Given the description of an element on the screen output the (x, y) to click on. 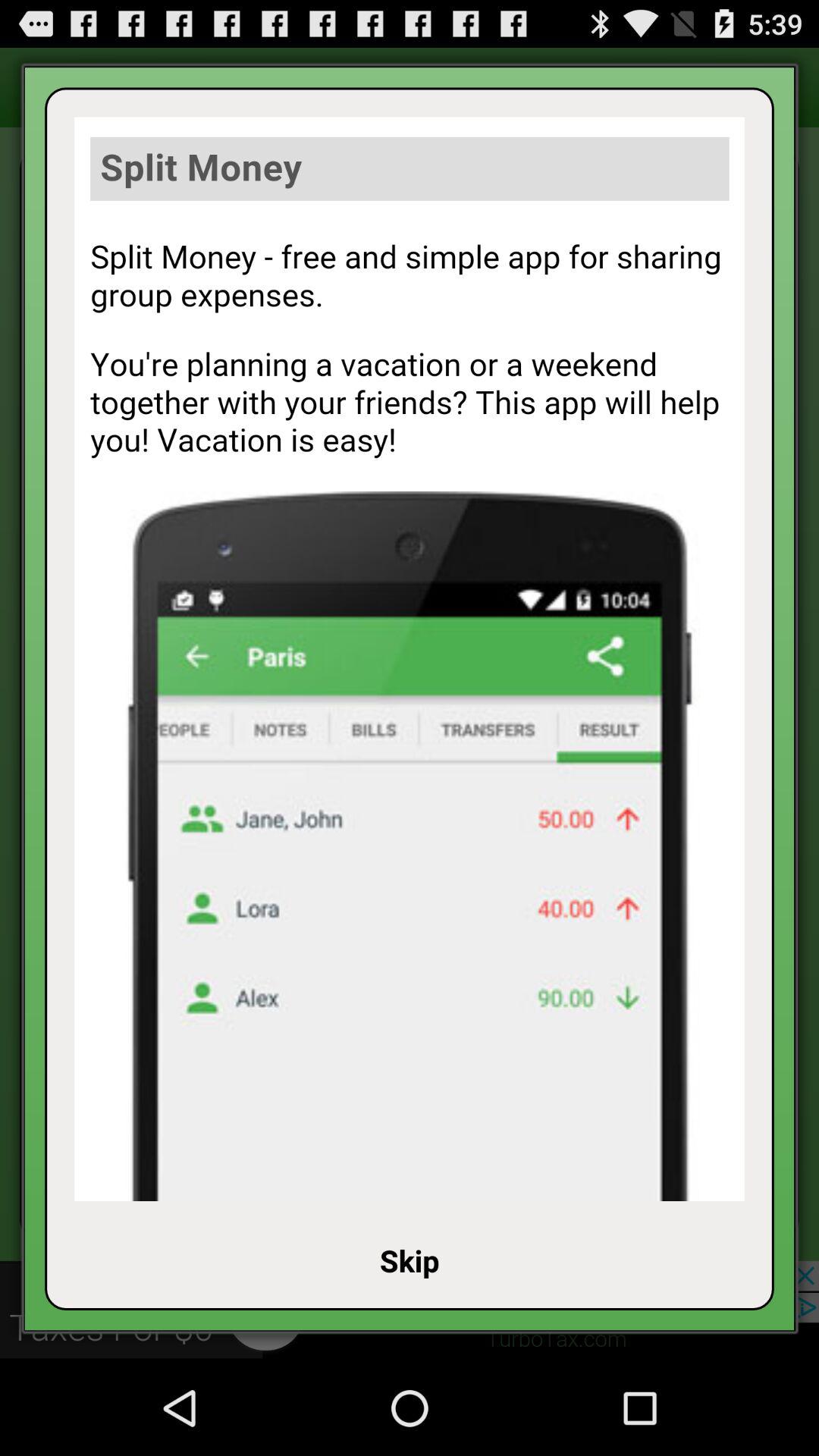
advertisement page (409, 659)
